Given the description of an element on the screen output the (x, y) to click on. 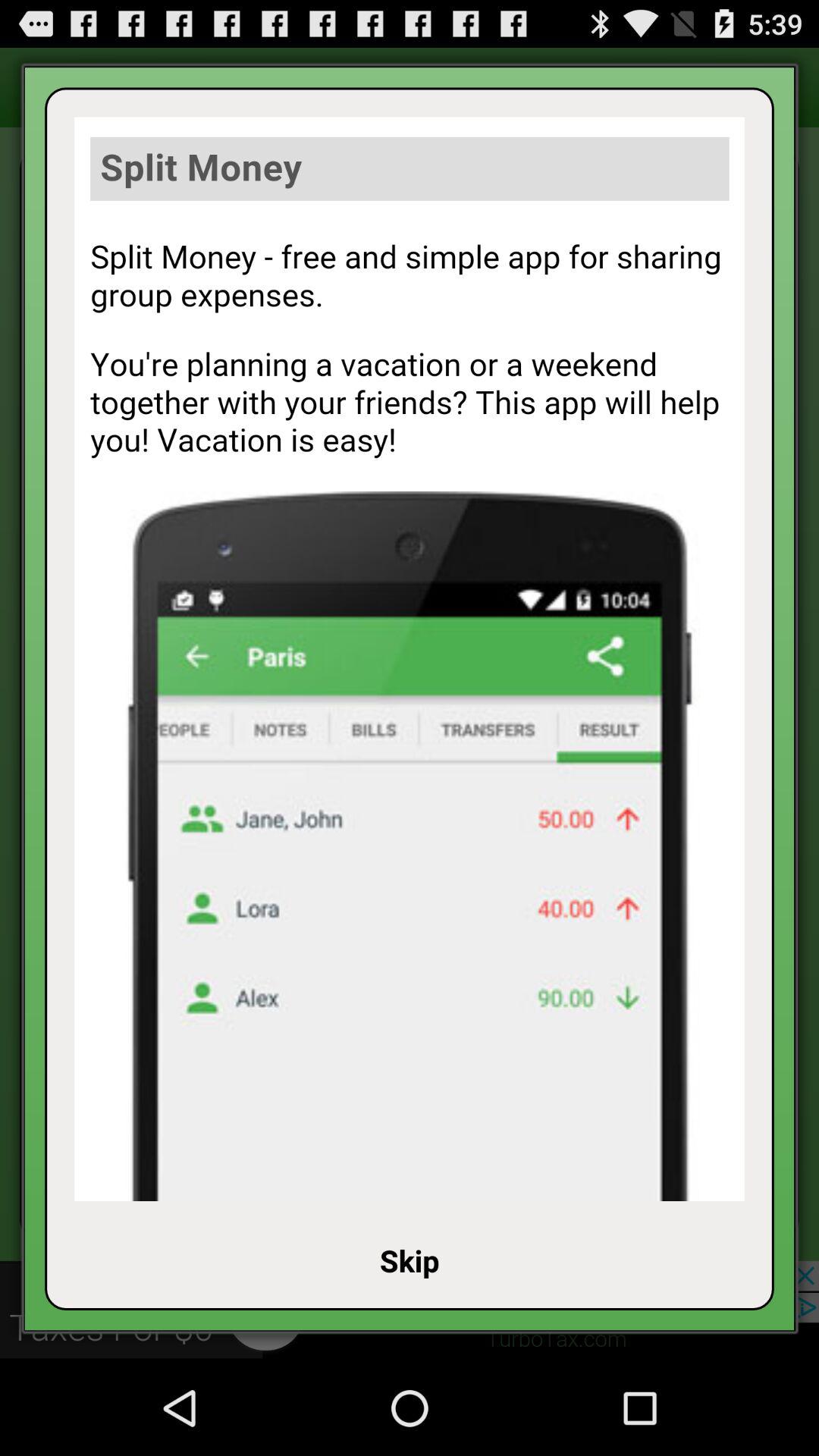
advertisement page (409, 659)
